Given the description of an element on the screen output the (x, y) to click on. 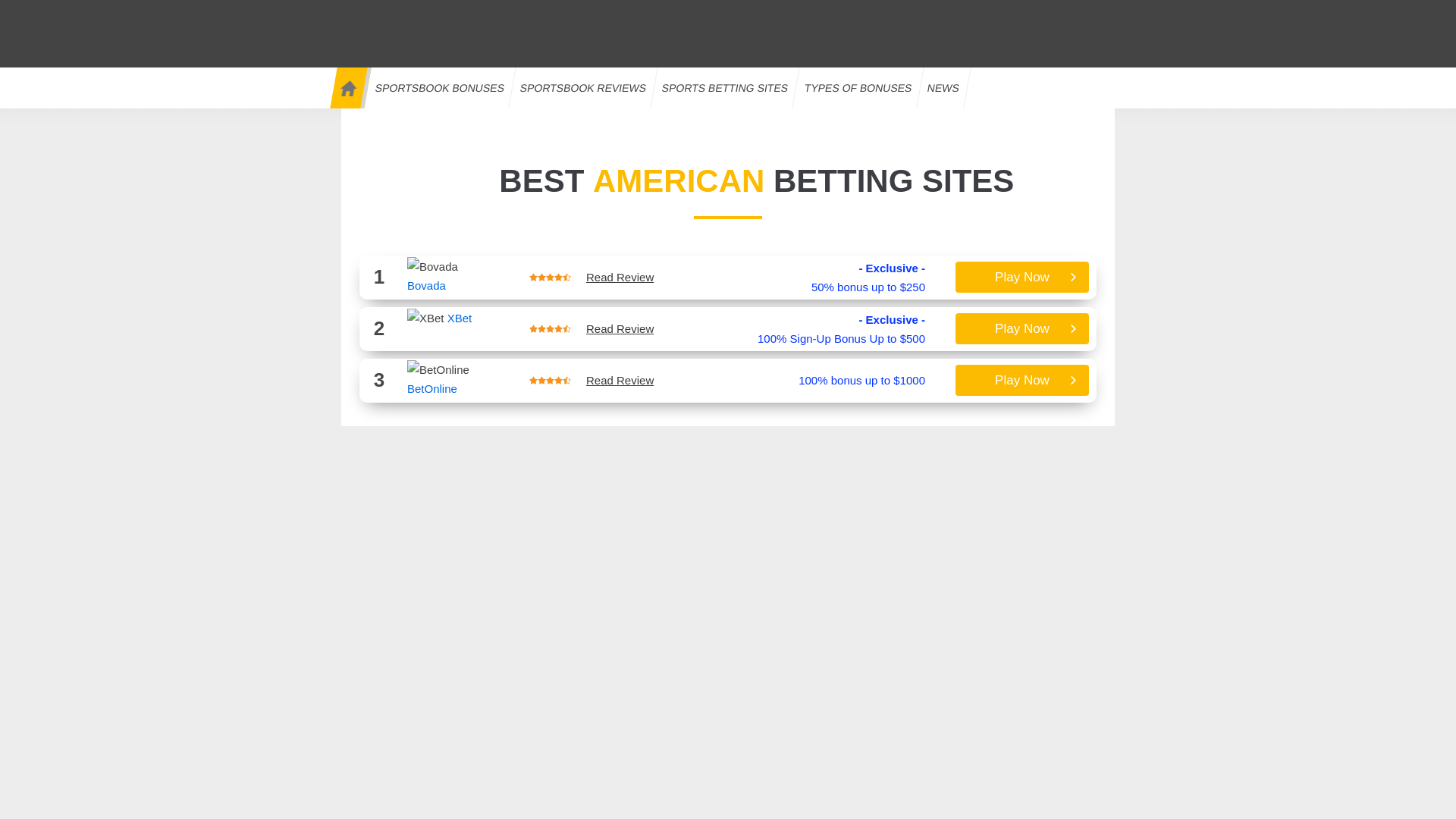
twitter (1057, 12)
Bovada (426, 285)
facebook (1088, 12)
BetOnline (437, 369)
SPORTSBOOK BONUSES (436, 87)
TYPES OF BONUSES (854, 87)
mail (996, 12)
Read Review (619, 277)
BEST AMERICAN BETTING SITES (728, 180)
XBet (425, 317)
